Given the description of an element on the screen output the (x, y) to click on. 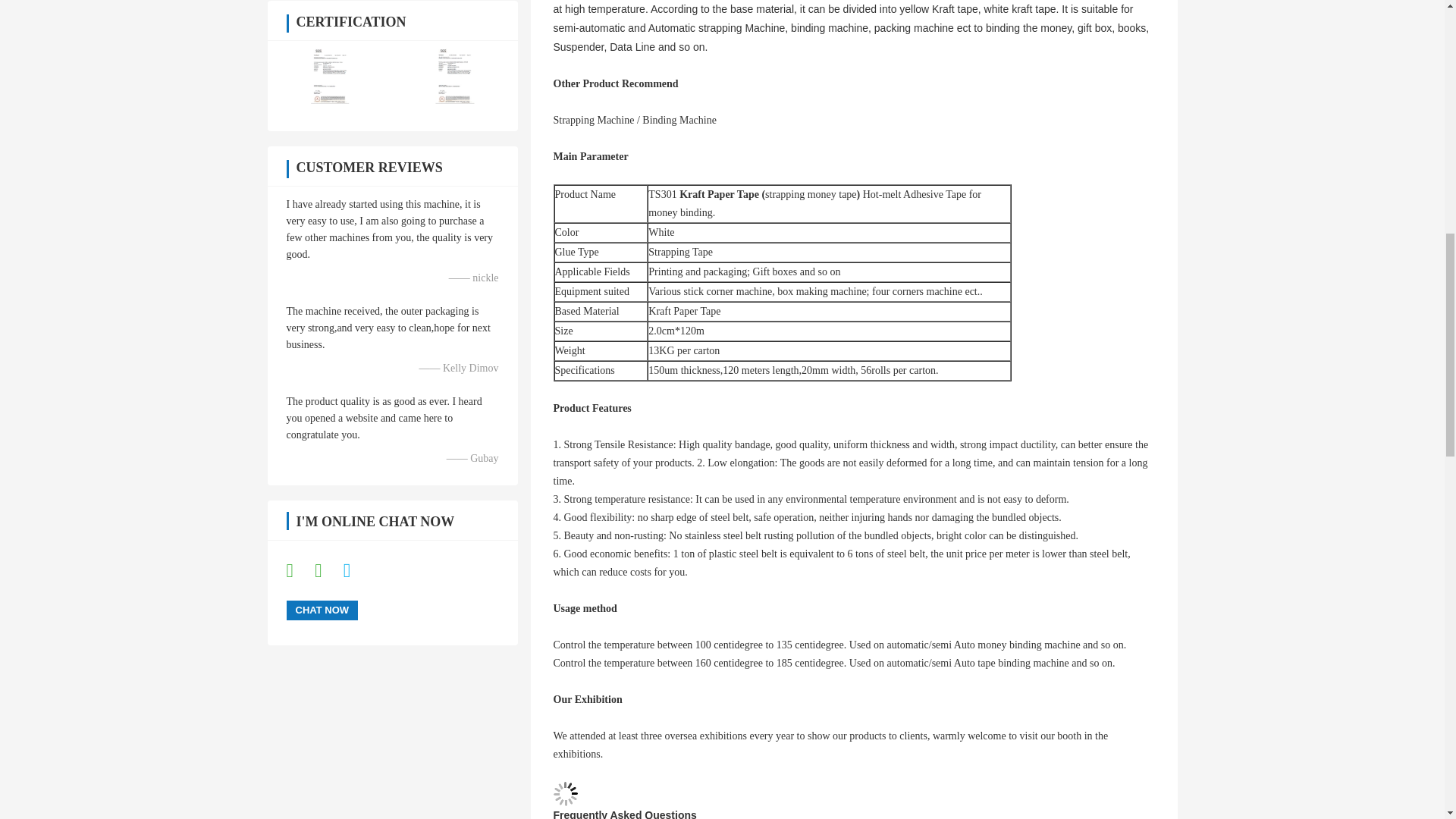
Chat Now (322, 609)
